Given the description of an element on the screen output the (x, y) to click on. 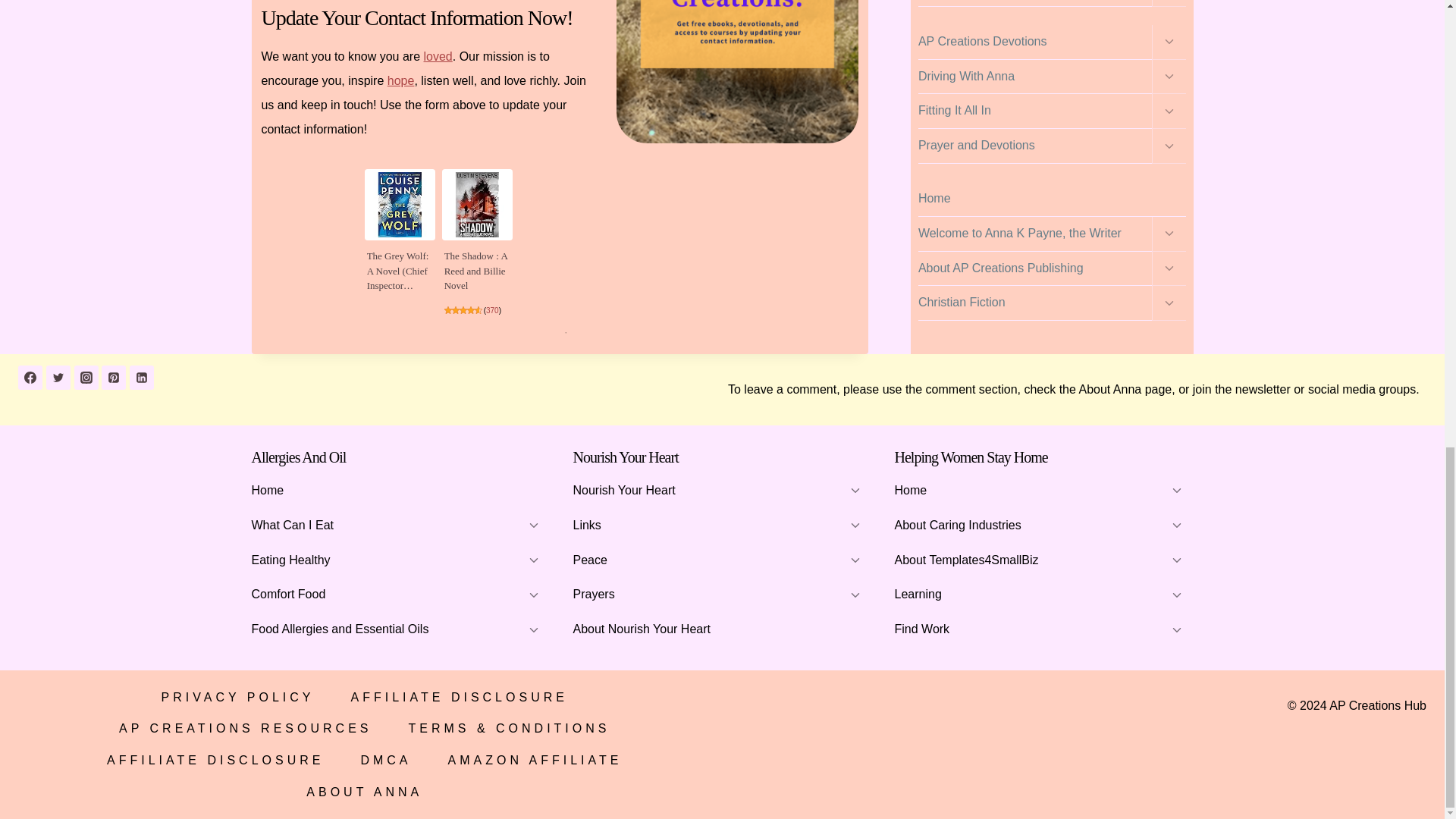
The Shadow : A Reed and Billie Novel:  (477, 204)
The Shadow : A Reed and Billie Novel:  (475, 270)
hope (400, 80)
loved (437, 56)
